Given the description of an element on the screen output the (x, y) to click on. 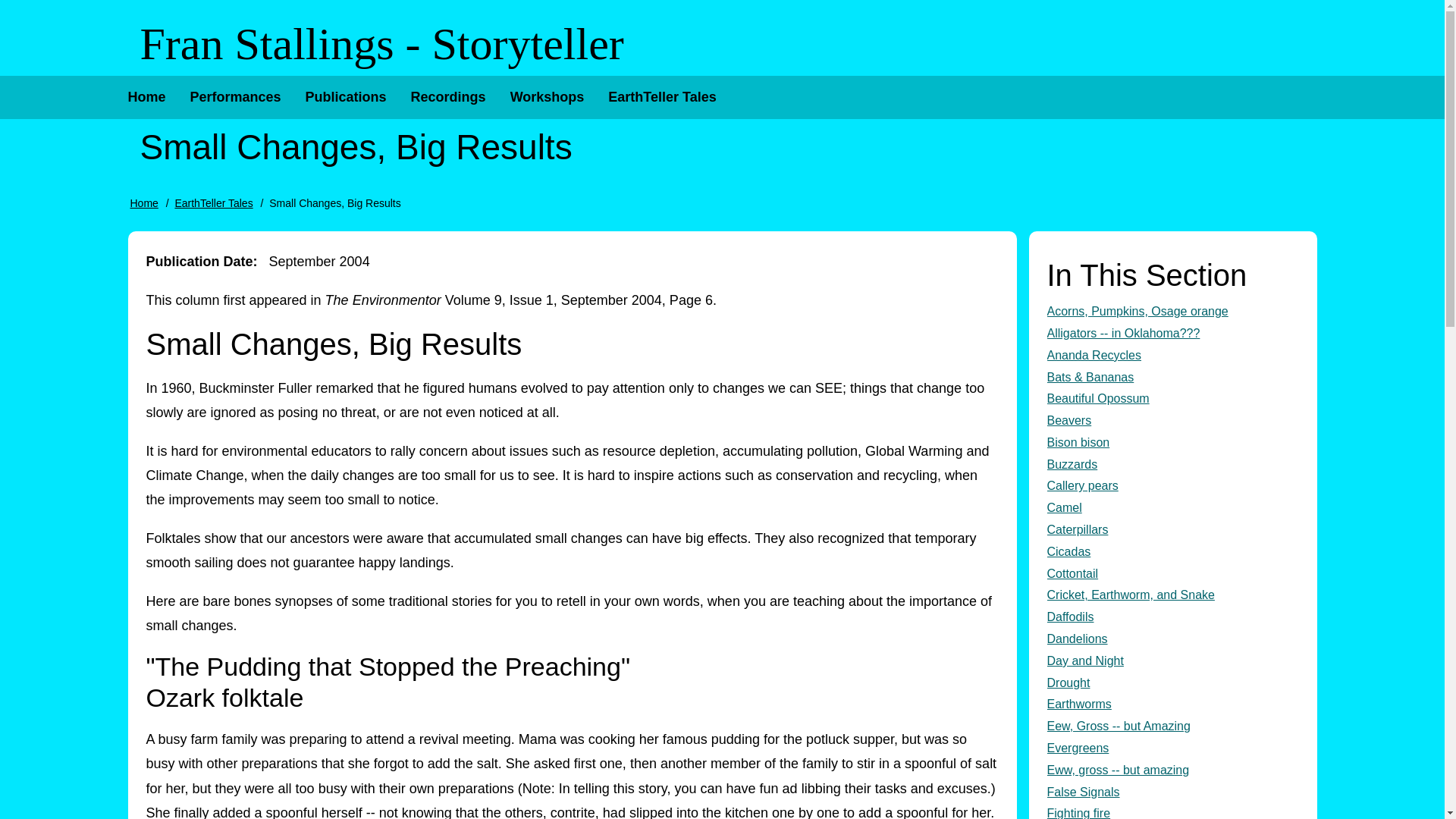
Fighting fire (1172, 811)
Home (144, 203)
Recordings (447, 96)
Cottontail (1172, 574)
Alligators -- in Oklahoma??? (1172, 333)
EarthTeller Tales (661, 96)
Callery pears (1172, 486)
Beavers (1172, 421)
Day and Night (1172, 661)
Fran Stallings - Storyteller (381, 44)
Drought (1172, 683)
Eew, Gross -- but Amazing (1172, 726)
Beautiful Opossum (1172, 399)
Camel (1172, 508)
Buzzards (1172, 464)
